Given the description of an element on the screen output the (x, y) to click on. 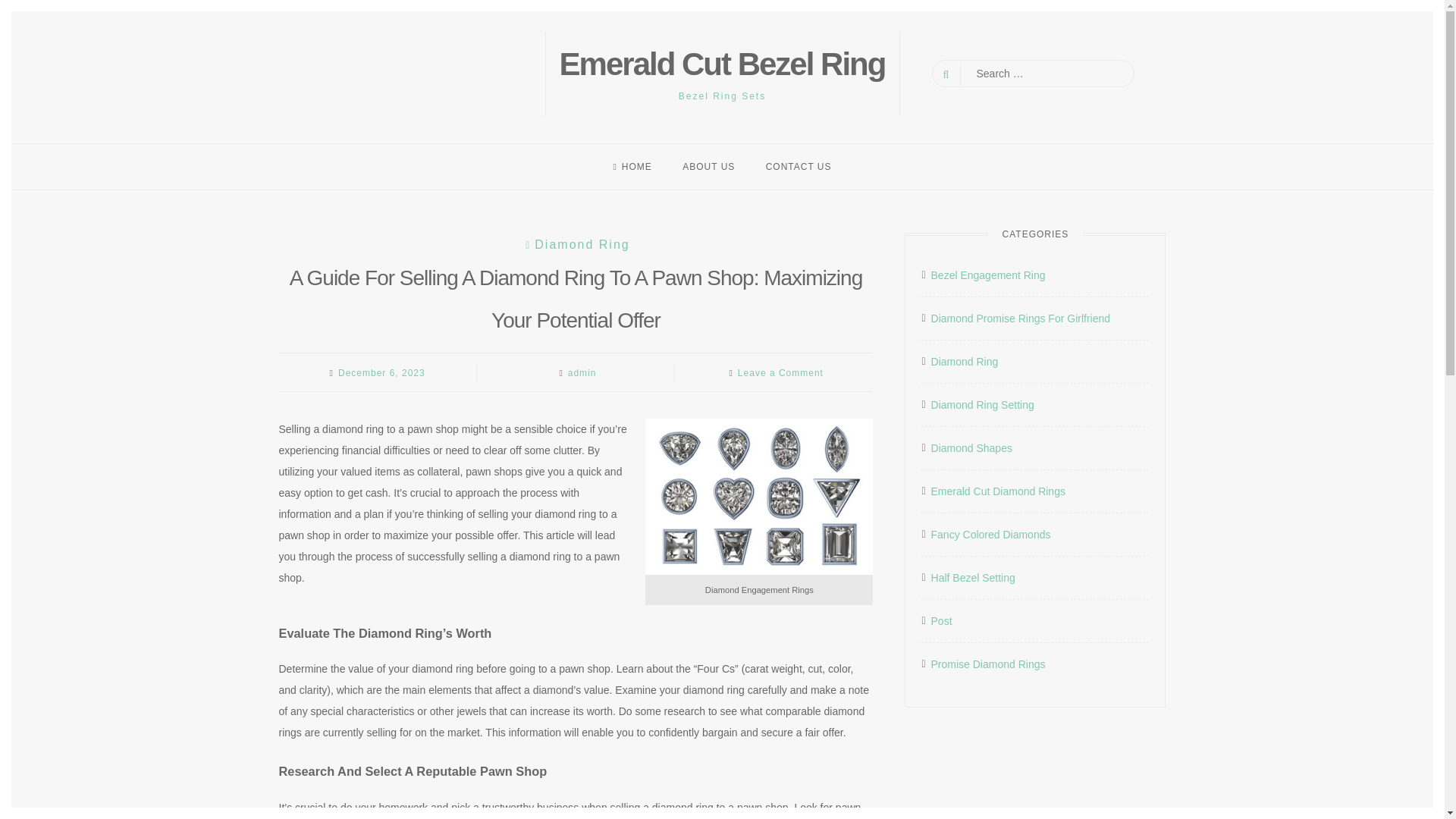
CONTACT US (798, 166)
Diamond Ring (964, 361)
Bezel Engagement Ring (988, 274)
Half Bezel Setting (972, 577)
Diamond Shapes (971, 447)
ABOUT US (708, 166)
Emerald Cut Diamond Rings (998, 491)
Search (24, 9)
Diamond Promise Rings For Girlfriend (1020, 318)
Post (941, 620)
HOME (631, 166)
Diamond Ring Setting (982, 404)
December 6, 2023 (381, 372)
Emerald Cut Bezel Ring (722, 63)
